Given the description of an element on the screen output the (x, y) to click on. 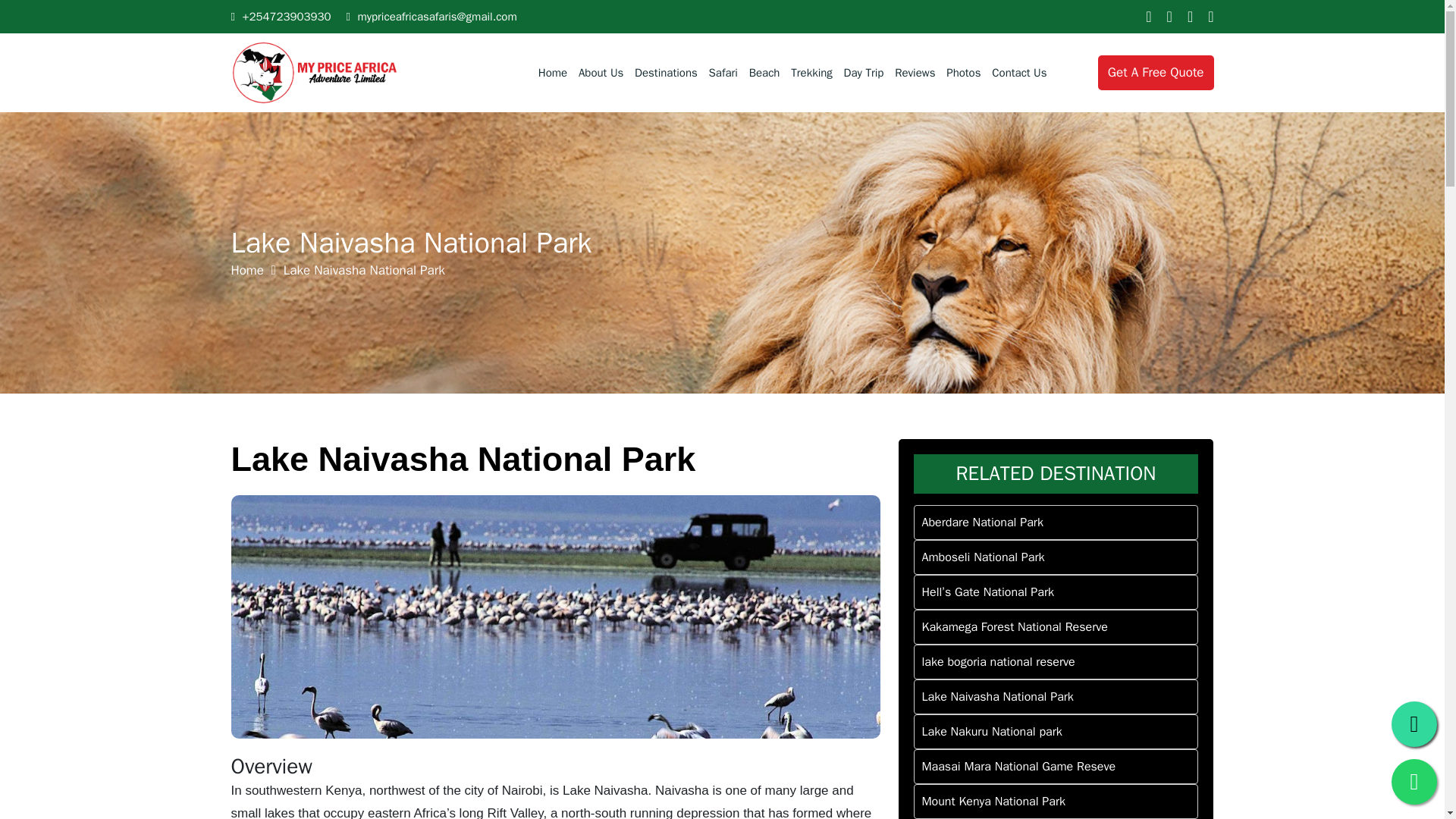
Maasai Mara National Game Reseve (1055, 766)
Get A Free Quote (1155, 72)
lake bogoria national reserve (1055, 661)
Destinations (665, 72)
Aberdare National Park (1055, 522)
Home (246, 270)
Mount Kenya National Park (1055, 801)
Lake Nakuru National park (1055, 731)
Kakamega Forest National Reserve (1055, 626)
Amboseli National Park (1055, 556)
